Given the description of an element on the screen output the (x, y) to click on. 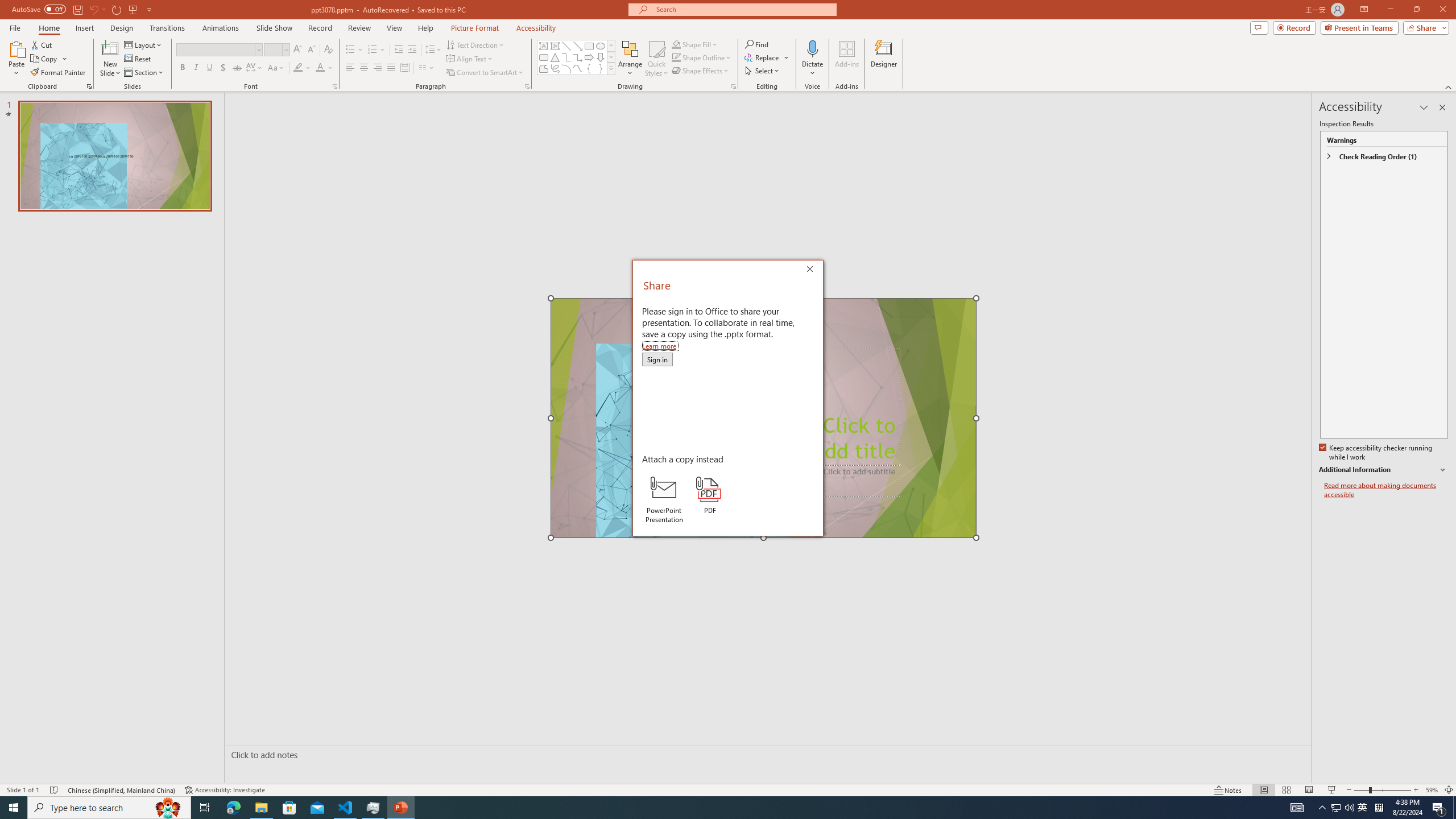
PowerPoint Presentation (663, 499)
